Given the description of an element on the screen output the (x, y) to click on. 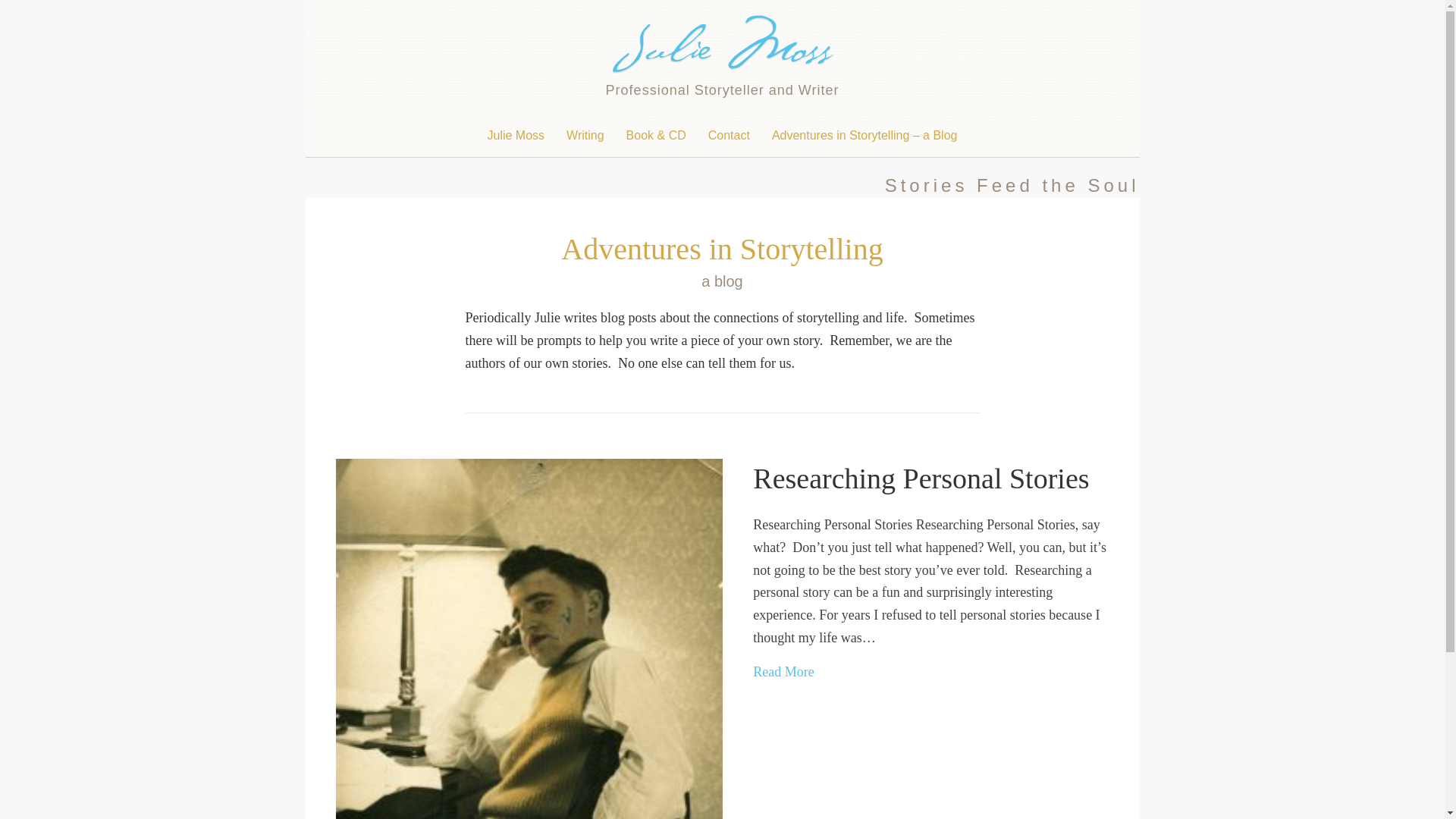
Read More (782, 671)
Contact (728, 135)
Researching Personal Stories (782, 671)
Writing (585, 135)
Researching Personal Stories (920, 478)
Researching Personal Stories (528, 683)
Julie Moss (516, 135)
Researching Personal Stories (920, 478)
